Given the description of an element on the screen output the (x, y) to click on. 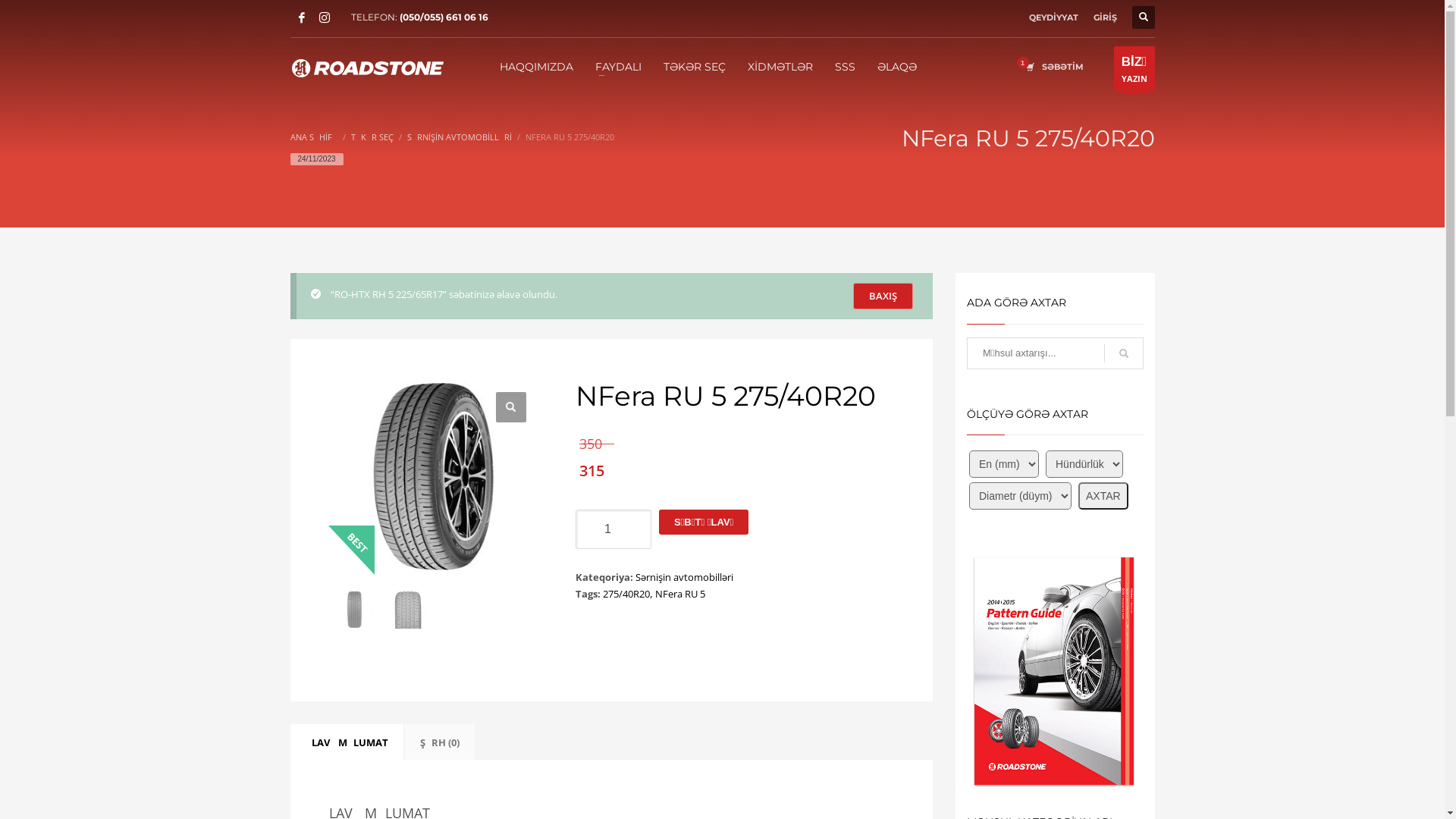
Facebook Element type: hover (300, 17)
nferaru5 Element type: hover (354, 608)
275/40R20 Element type: text (625, 593)
nferaru5-1 Element type: hover (434, 475)
Search for: Element type: hover (1054, 353)
Instagram Element type: hover (323, 17)
nferaru5-2 Element type: hover (407, 608)
FAYDALI Element type: text (618, 65)
AXTAR Element type: text (1103, 495)
SSS Element type: text (844, 65)
Axtar Element type: text (1123, 353)
HAQQIMIZDA Element type: text (536, 65)
NFera RU 5 Element type: text (680, 593)
